Given the description of an element on the screen output the (x, y) to click on. 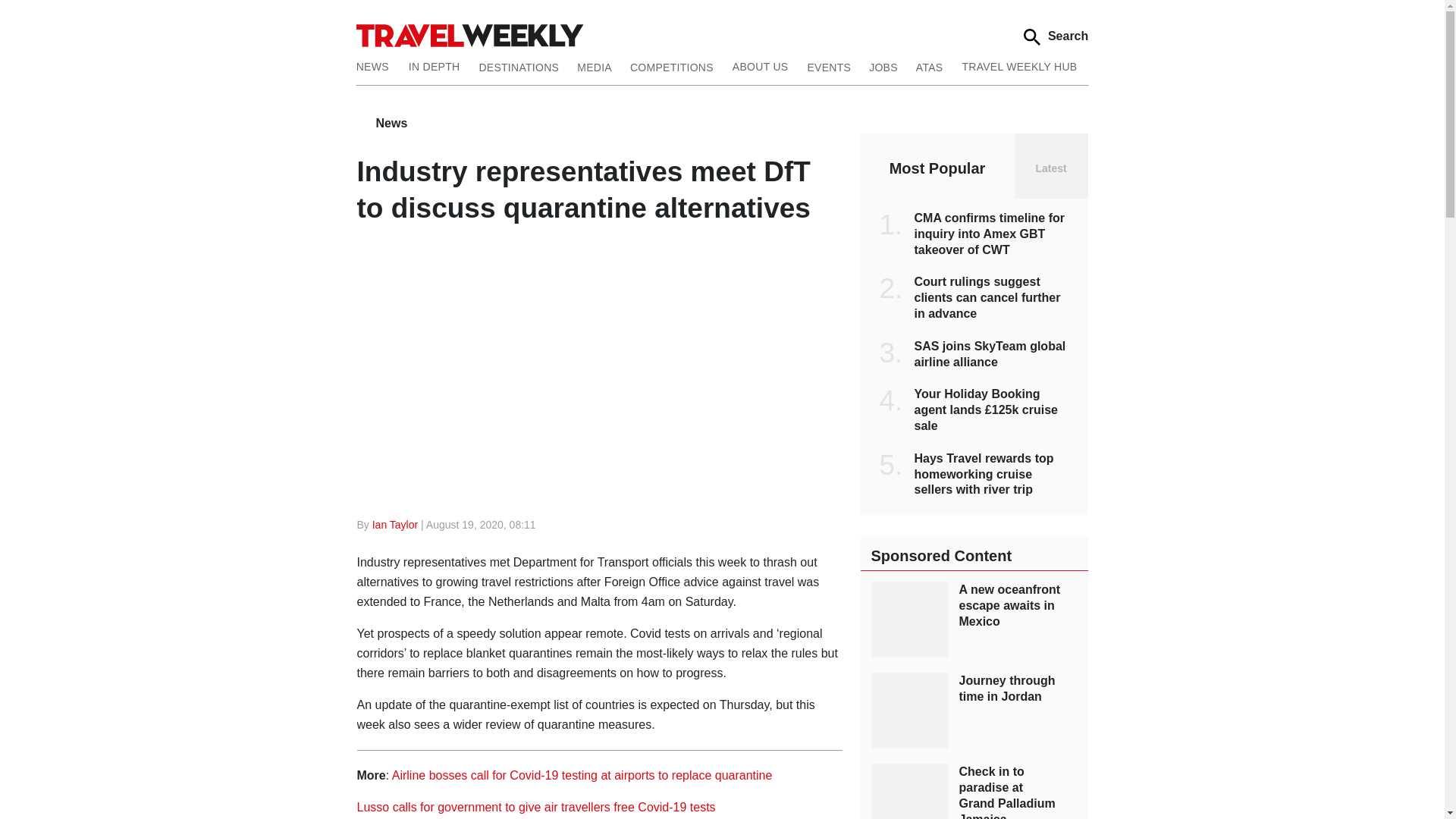
NEWS (377, 65)
August 19, 2020, 08:11 (480, 524)
Search (1055, 36)
Share on Facebook (659, 524)
Share on Twitter (716, 524)
Share on LinkedIn (773, 524)
